Given the description of an element on the screen output the (x, y) to click on. 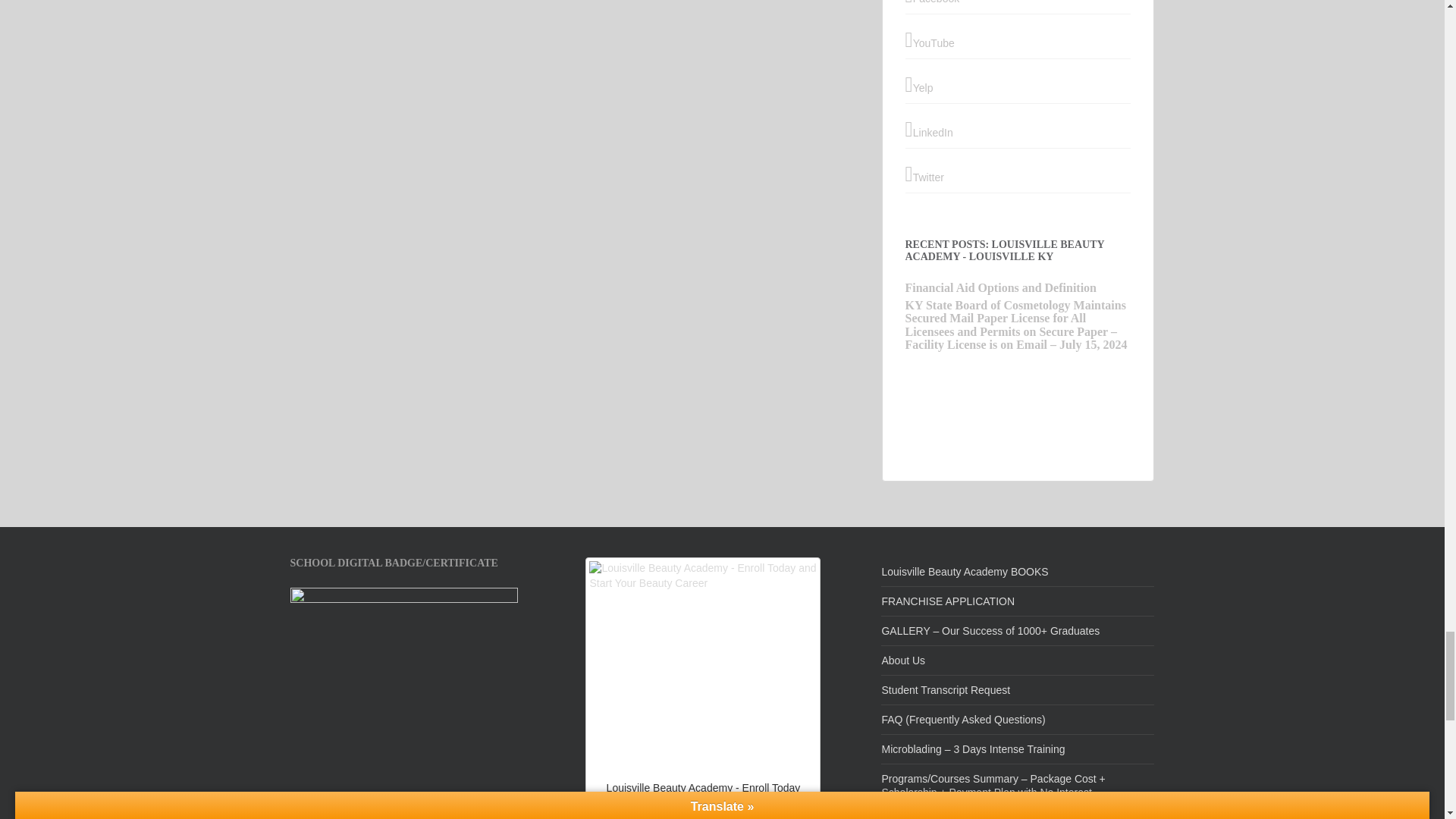
Visit Louisville Beauty Academy - Louisville KY on Facebook (1018, 2)
Visit Louisville Beauty Academy - Louisville KY on Yelp (1018, 84)
Visit Louisville Beauty Academy - Louisville KY on LinkedIn (1018, 129)
Visit Louisville Beauty Academy - Louisville KY on Twitter (1018, 174)
Visit Louisville Beauty Academy - Louisville KY on YouTube (1018, 39)
